Given the description of an element on the screen output the (x, y) to click on. 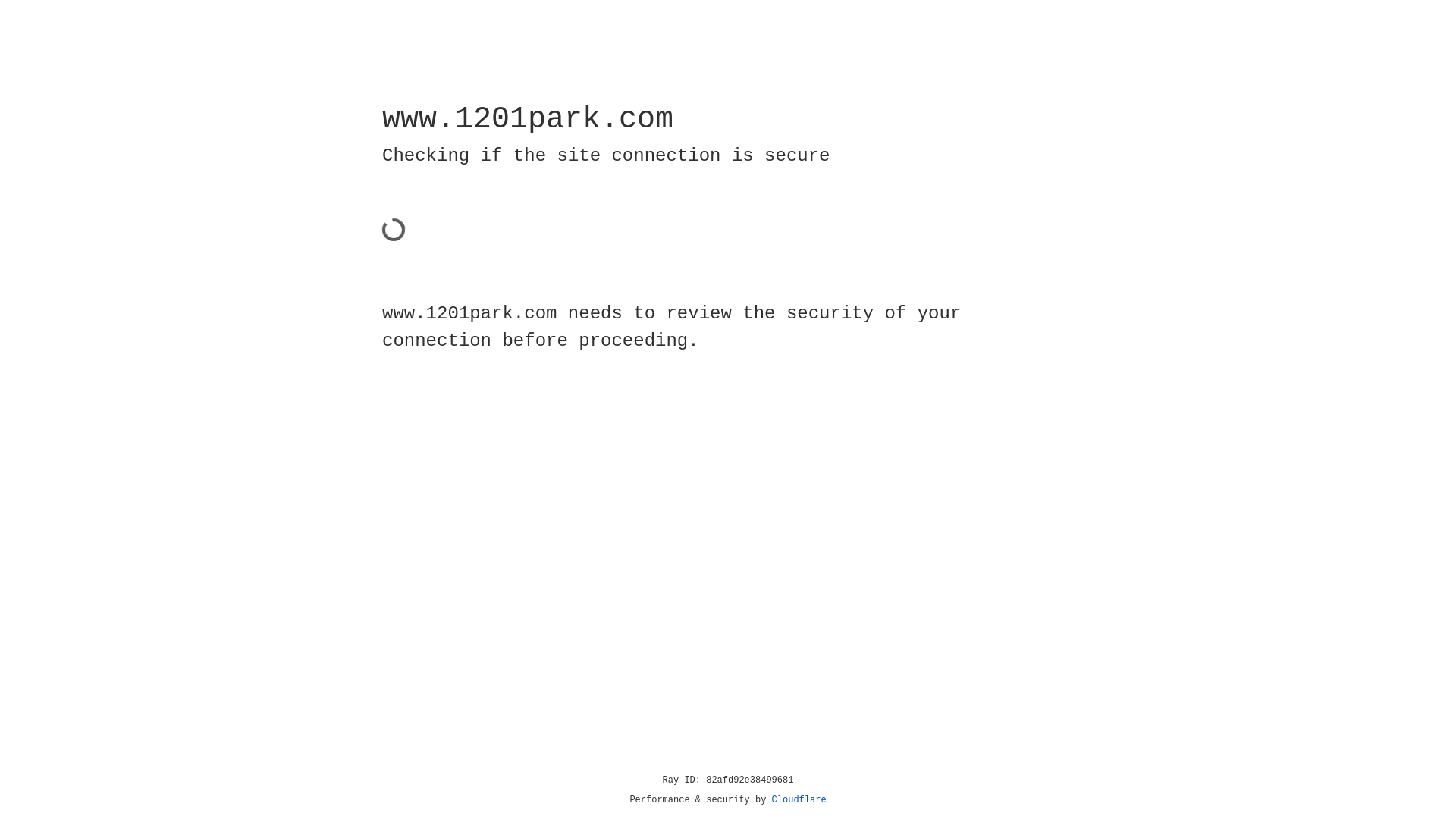
Cloudflare Element type: text (798, 799)
